Given the description of an element on the screen output the (x, y) to click on. 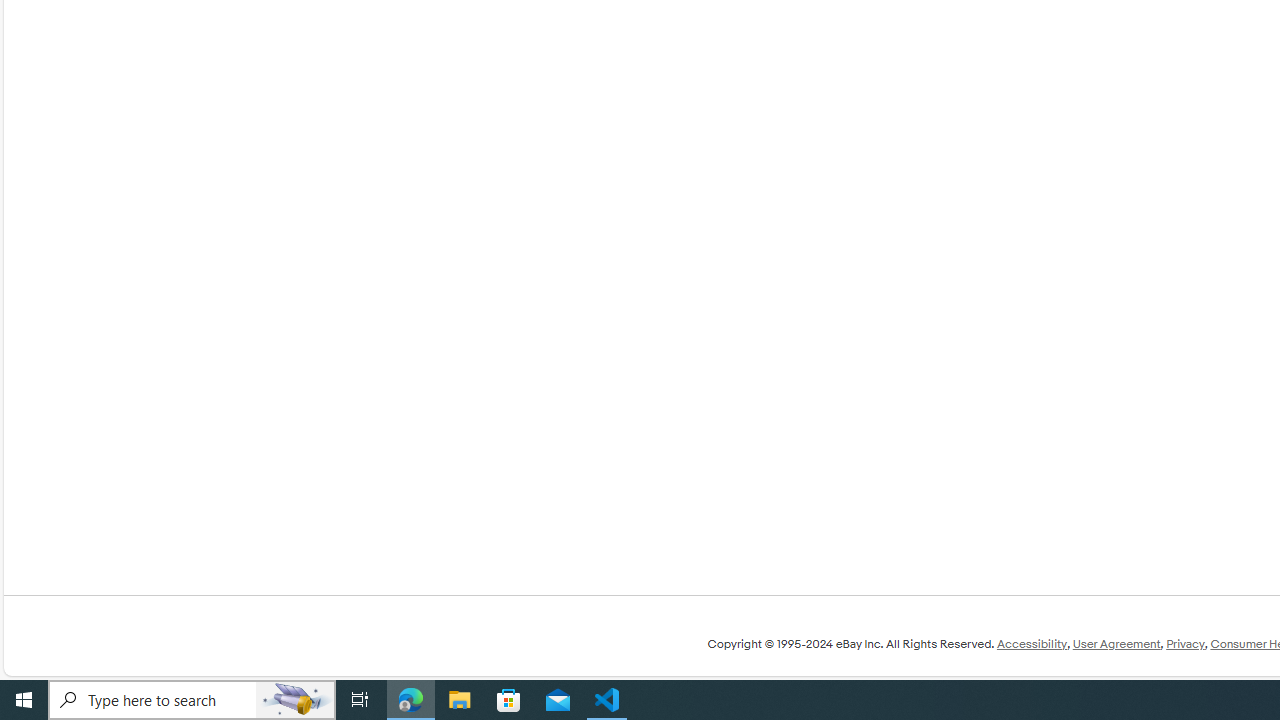
User Agreement (1116, 644)
Accessibility (1031, 644)
